Given the description of an element on the screen output the (x, y) to click on. 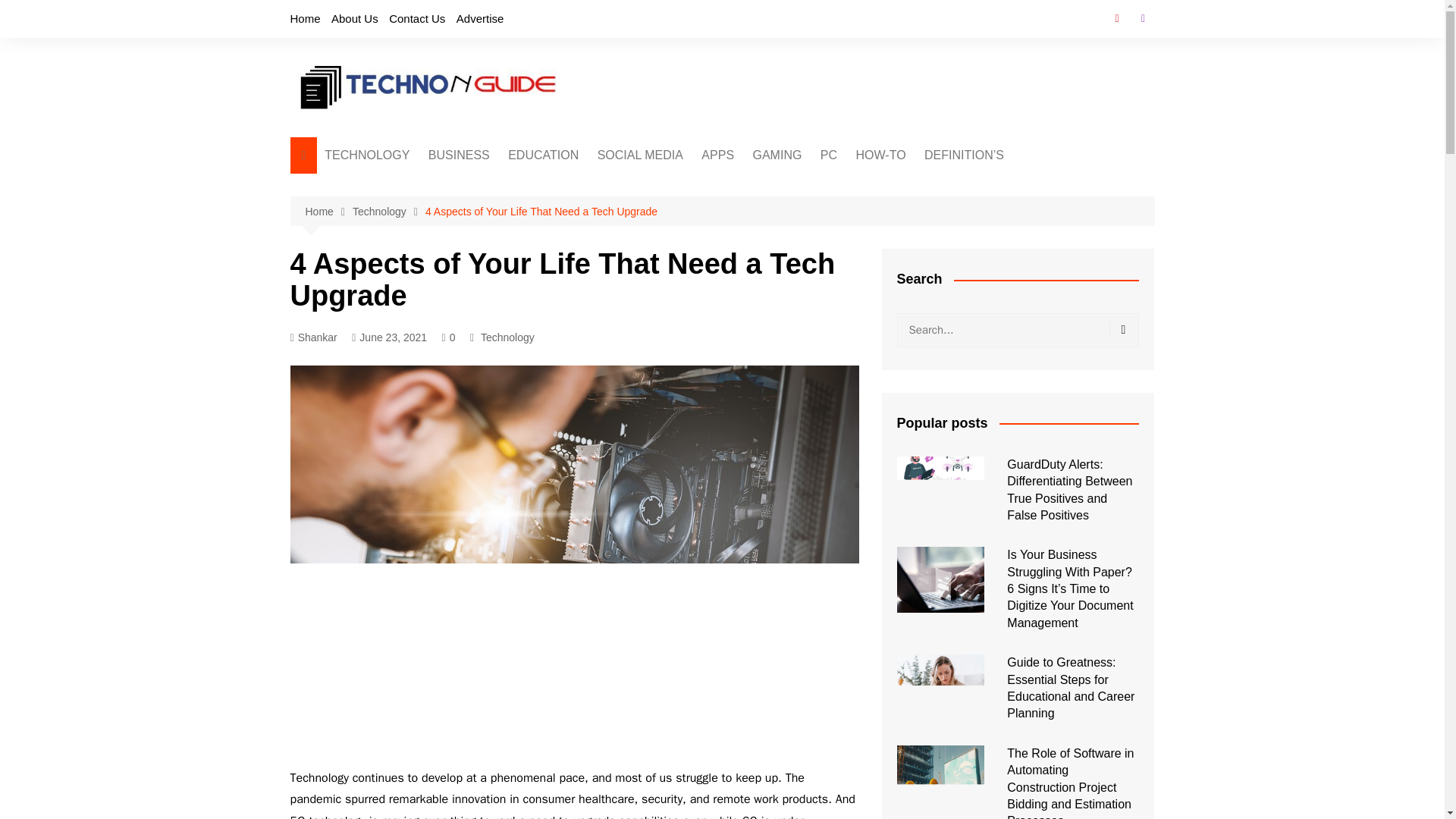
ARTIFICIAL INTELLIGENCE (400, 192)
WINDOWS (895, 186)
CRYPTOCURRENCY (671, 186)
Technology (388, 211)
DIGITAL MARKETING (504, 235)
APPS (717, 155)
SEO (671, 235)
MOBILE (400, 273)
SOCIAL MEDIA (639, 155)
GADGETS (400, 223)
